Given the description of an element on the screen output the (x, y) to click on. 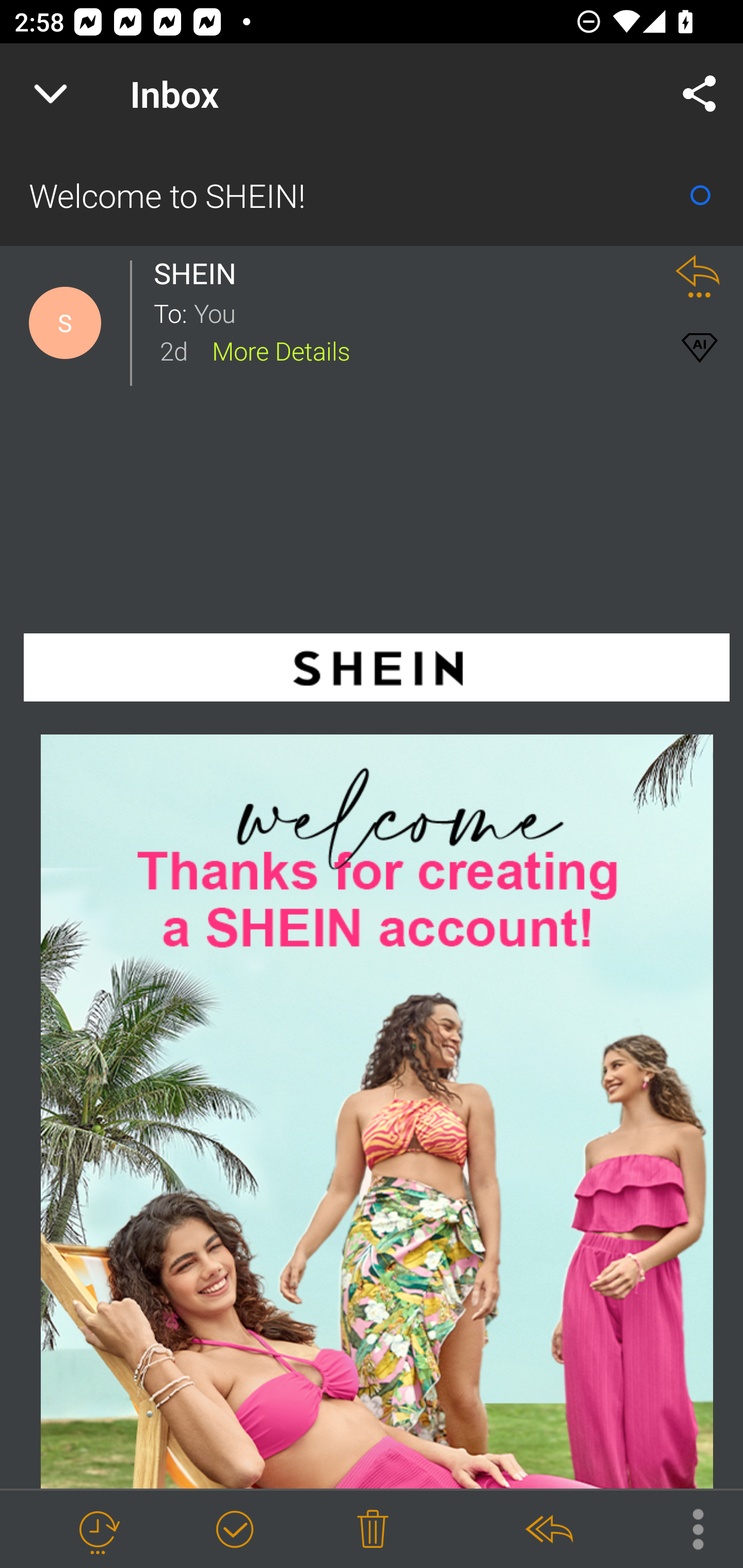
Navigate up (50, 93)
Share (699, 93)
Mark as Read (699, 194)
SHEIN (200, 273)
Contact Details (64, 322)
More Details (280, 349)
SHEIN (376, 672)
shein-picks (376, 1110)
More Options (687, 1528)
Snooze (97, 1529)
Mark as Done (234, 1529)
Delete (372, 1529)
Reply All (548, 1529)
